Given the description of an element on the screen output the (x, y) to click on. 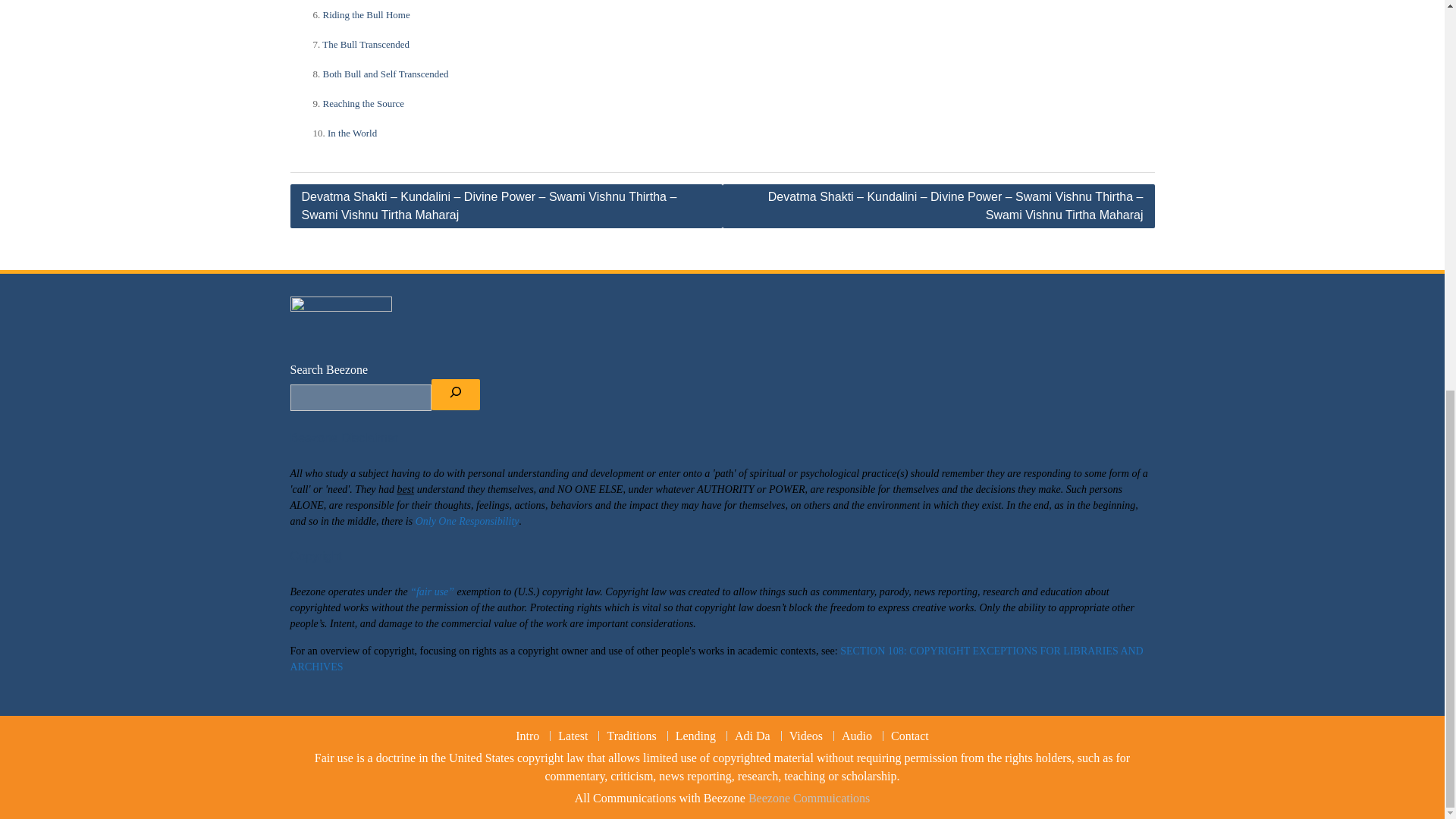
SECTION 108: COPYRIGHT EXCEPTIONS FOR LIBRARIES AND ARCHIVES (385, 72)
Traditions (715, 658)
Contact (366, 13)
Intro (630, 736)
Lending (365, 42)
Latest (909, 736)
Only One Responsibility (527, 736)
